Given the description of an element on the screen output the (x, y) to click on. 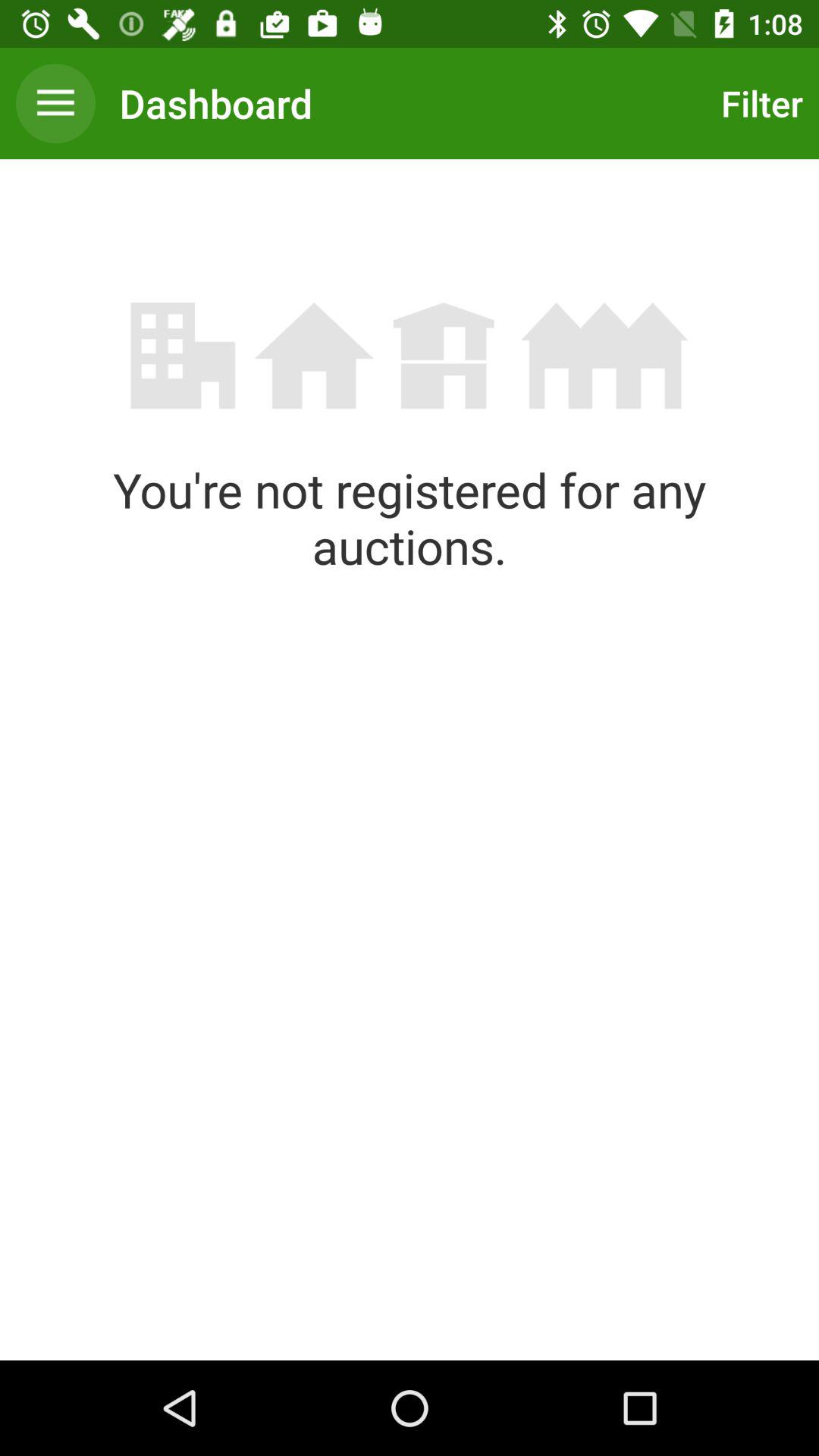
press the item to the left of dashboard icon (55, 103)
